Given the description of an element on the screen output the (x, y) to click on. 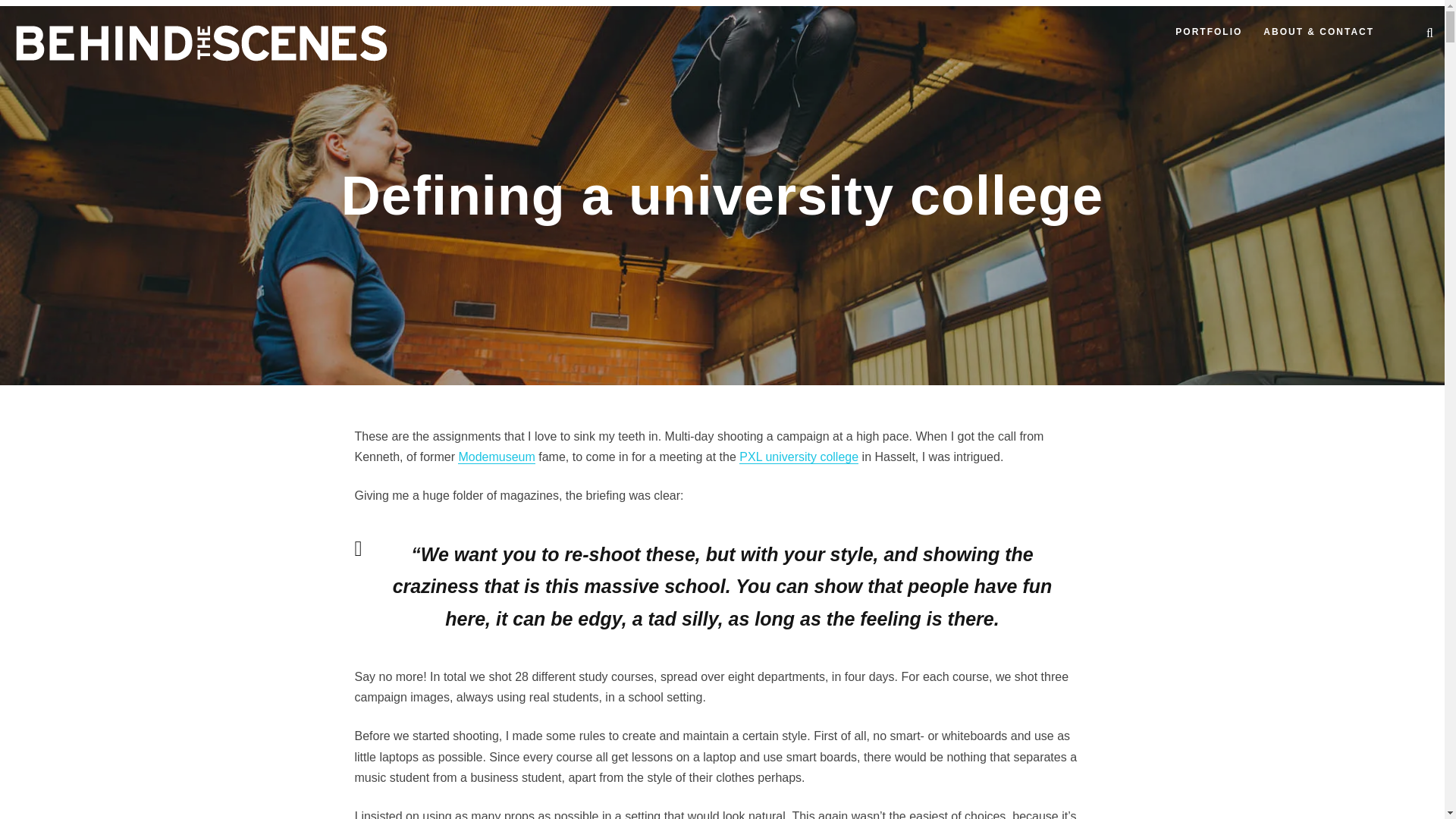
PORTFOLIO (1207, 36)
Modemuseum (496, 457)
PXL university college (799, 457)
